Given the description of an element on the screen output the (x, y) to click on. 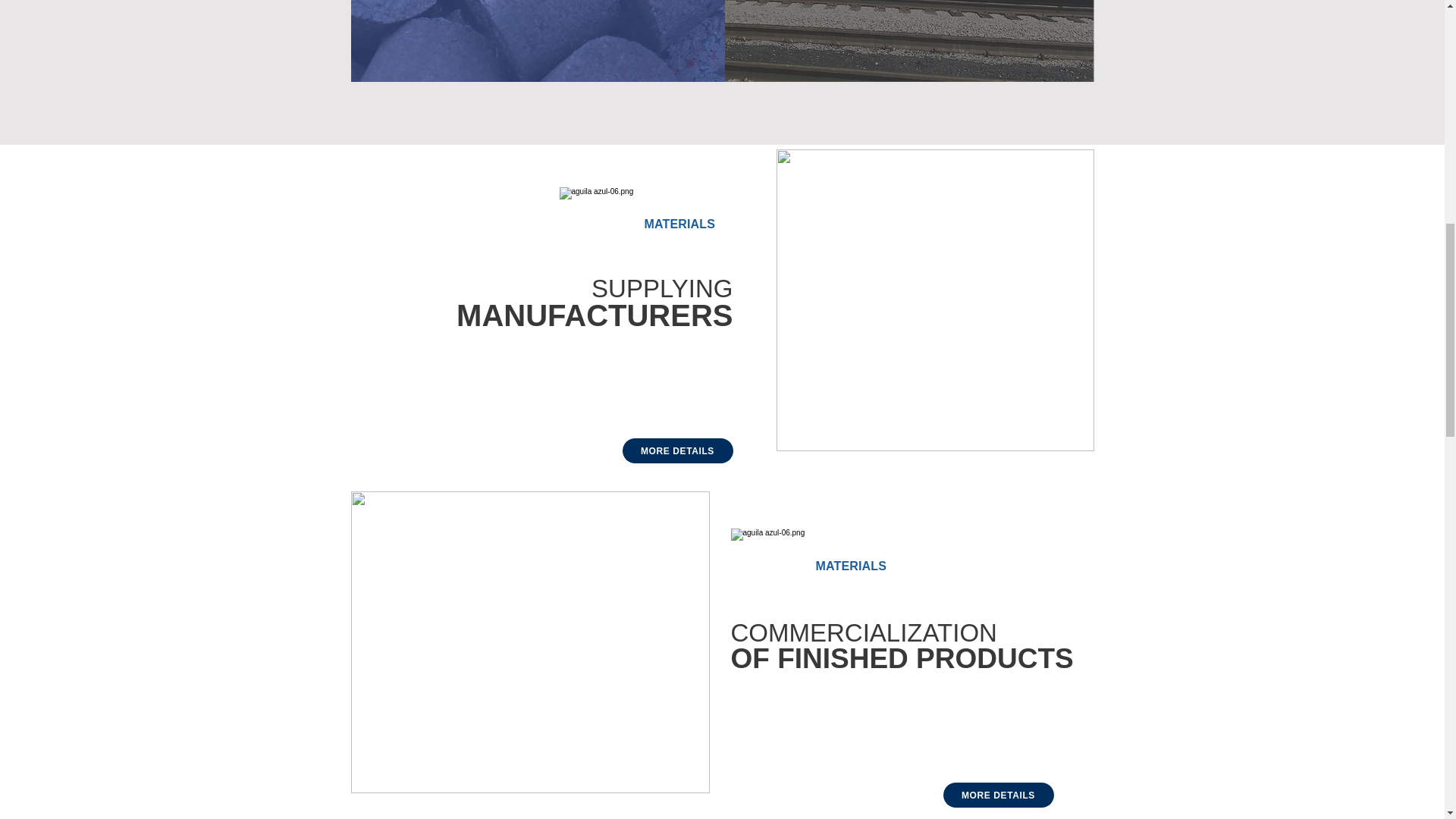
MORE DETAILS (676, 450)
segun imagen prin-06.png (935, 300)
Dos opciones-06.png (721, 40)
tercer imagen prin-06.png (529, 642)
MORE DETAILS (998, 794)
